Given the description of an element on the screen output the (x, y) to click on. 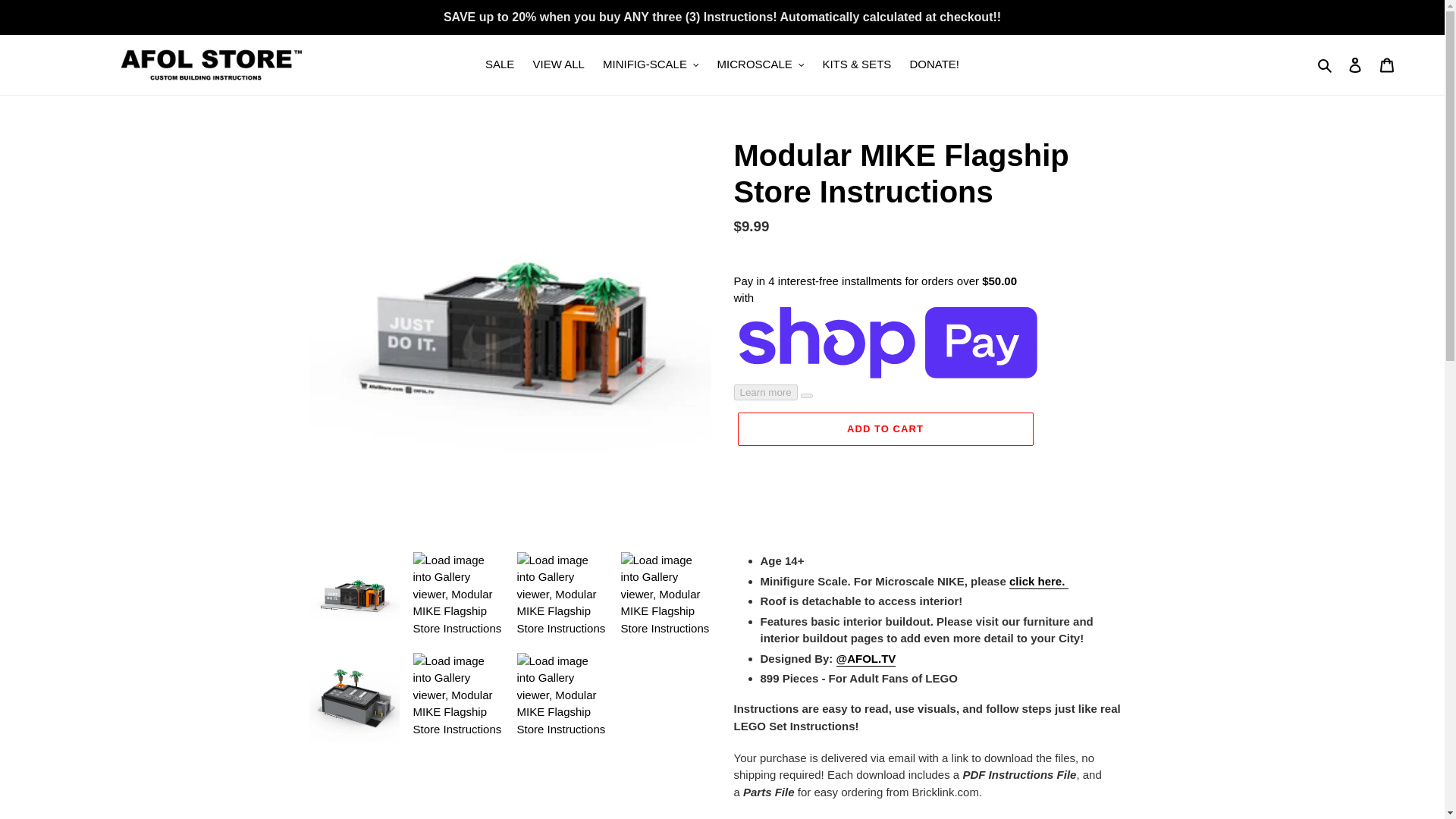
Micro Nike (1038, 581)
VIEW ALL (557, 65)
MINIFIG-SCALE (650, 65)
SALE (499, 65)
